Given the description of an element on the screen output the (x, y) to click on. 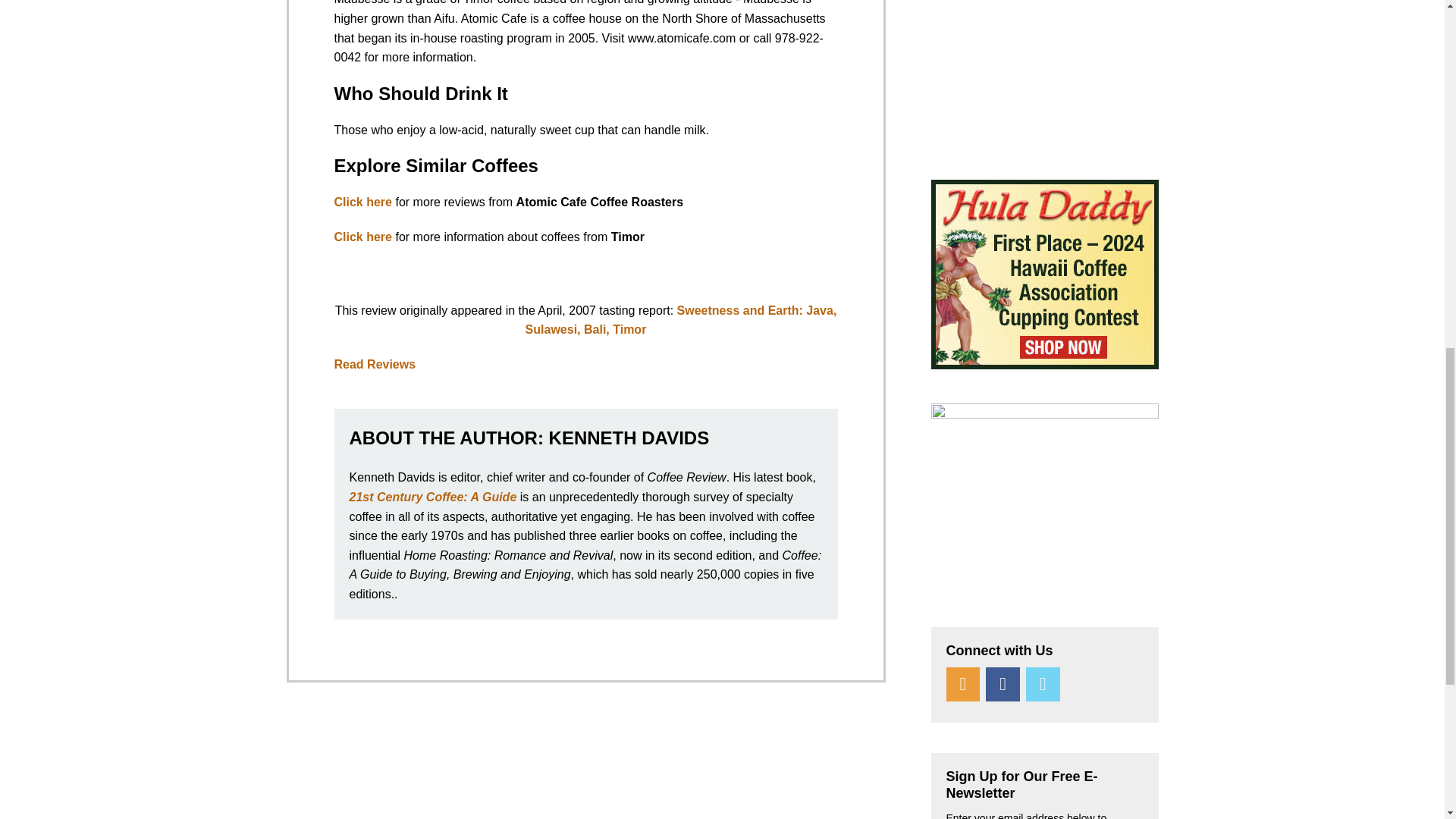
RSS (962, 684)
Facebook (1002, 684)
Twitter (1042, 684)
